Given the description of an element on the screen output the (x, y) to click on. 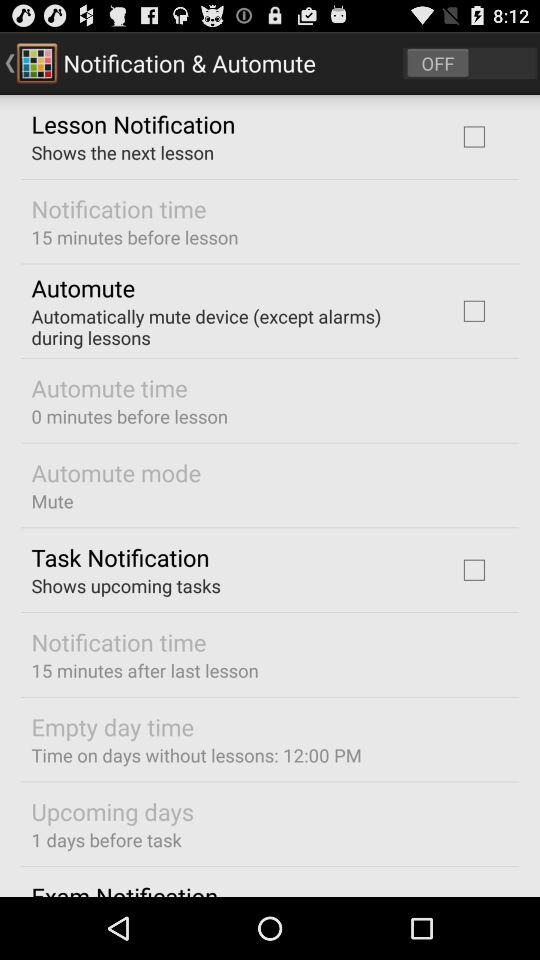
flip until the shows upcoming tasks (125, 585)
